Given the description of an element on the screen output the (x, y) to click on. 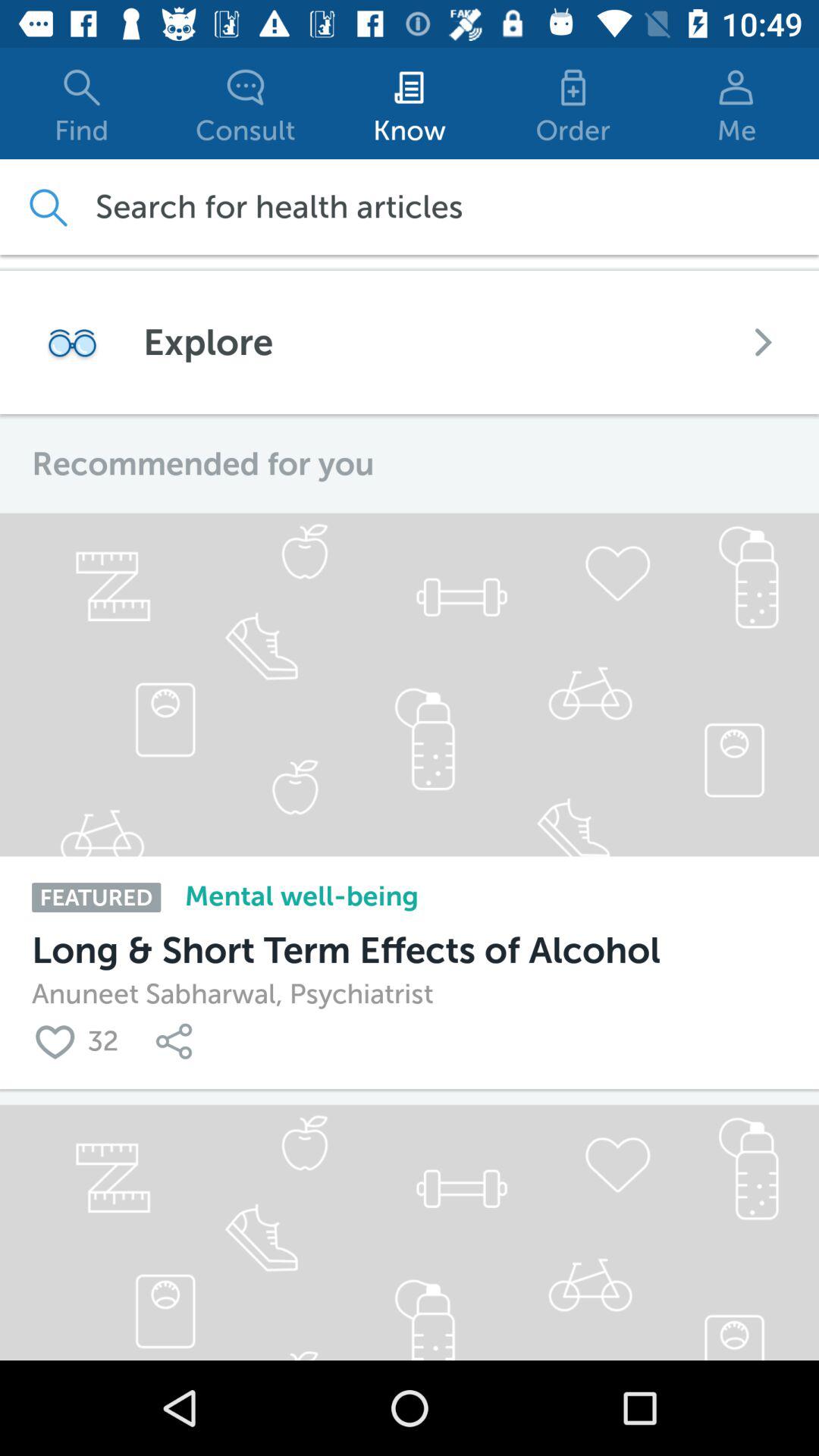
like the article (59, 1041)
